Given the description of an element on the screen output the (x, y) to click on. 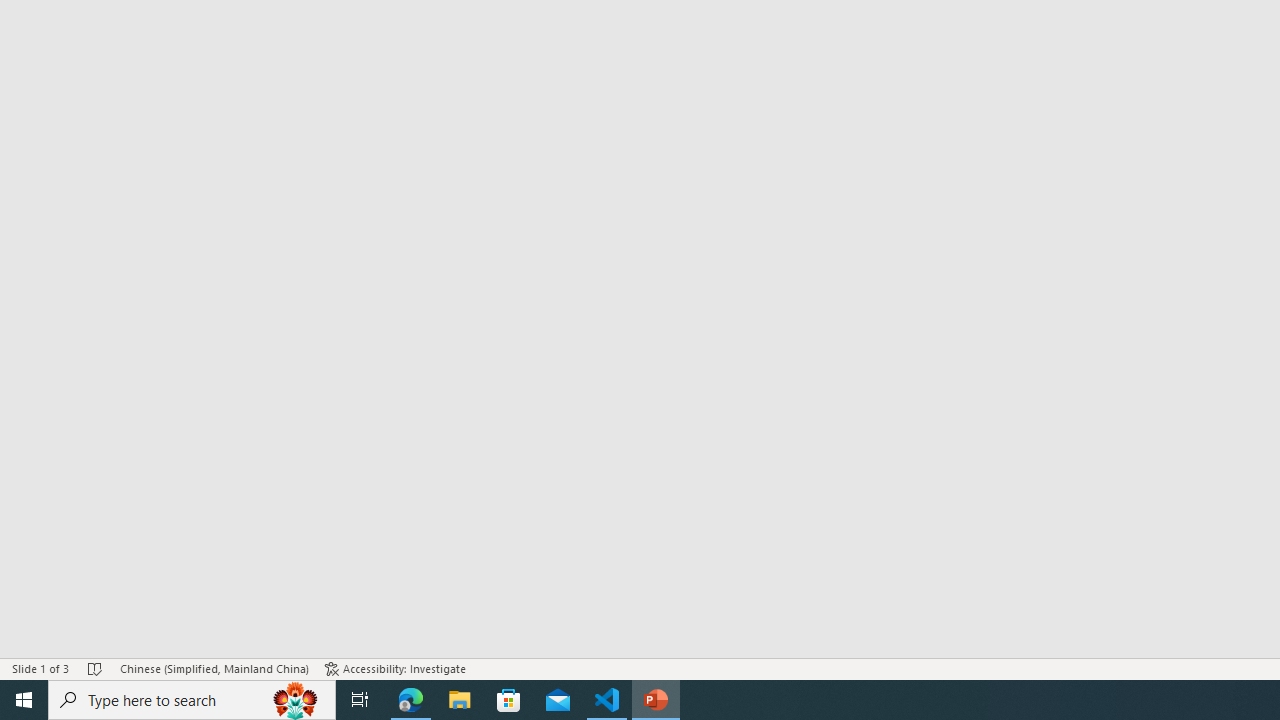
Accessibility Checker Accessibility: Investigate (395, 668)
Spell Check No Errors (95, 668)
